Given the description of an element on the screen output the (x, y) to click on. 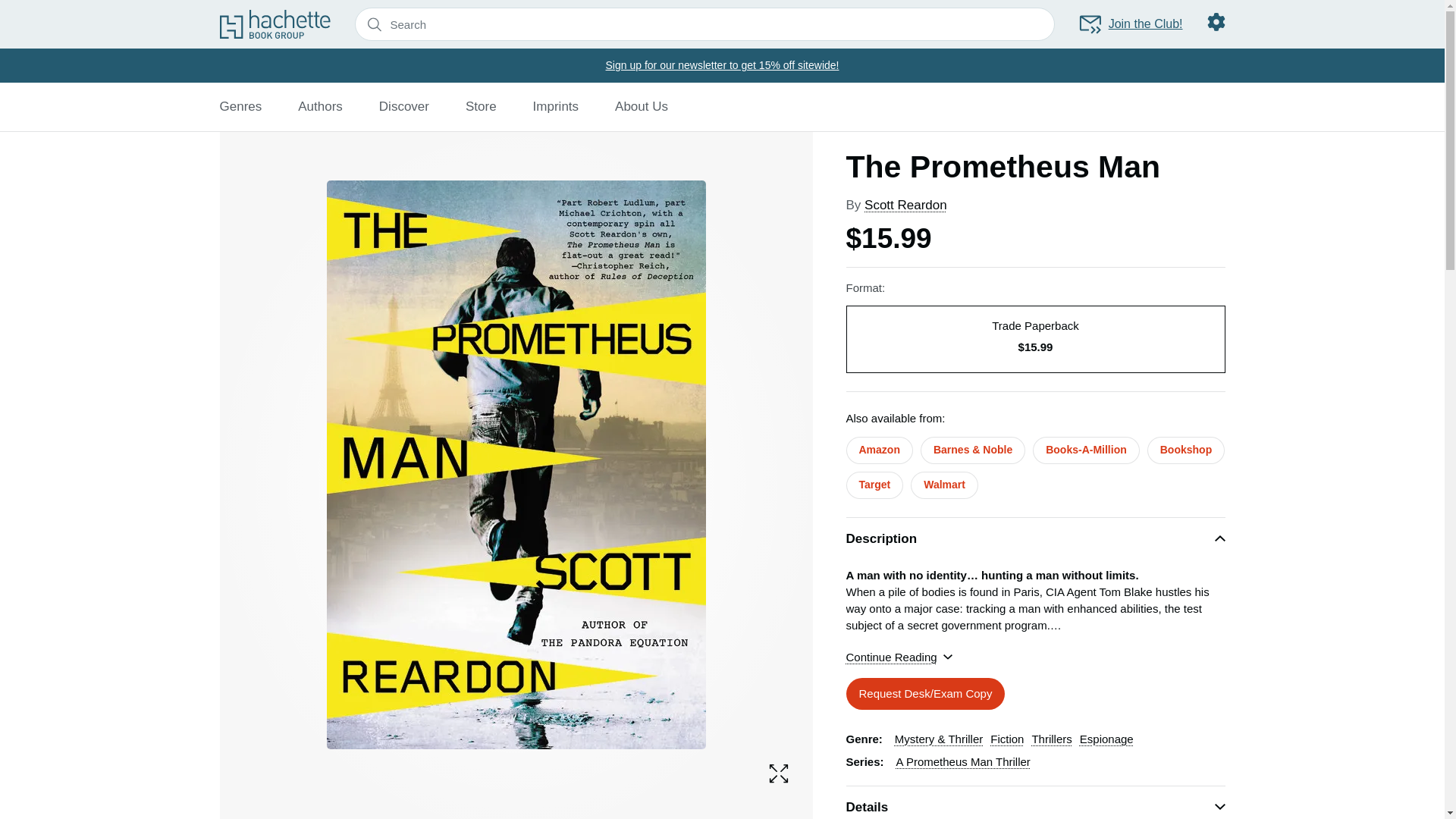
Genres (240, 106)
Join the Club! (1130, 24)
Go to Hachette Book Group home (274, 23)
